Given the description of an element on the screen output the (x, y) to click on. 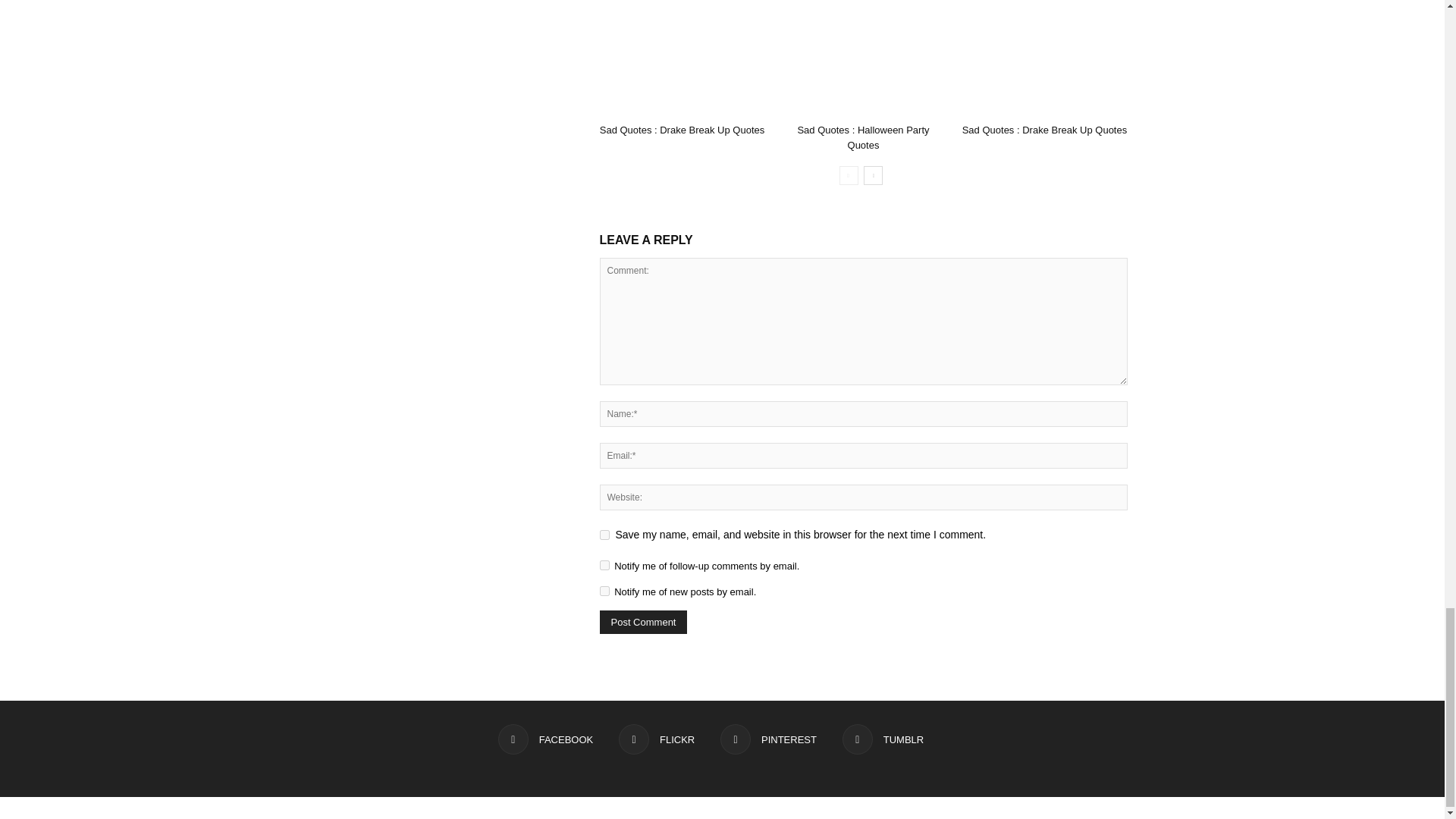
subscribe (603, 565)
subscribe (603, 591)
yes (603, 534)
Post Comment (642, 621)
